Given the description of an element on the screen output the (x, y) to click on. 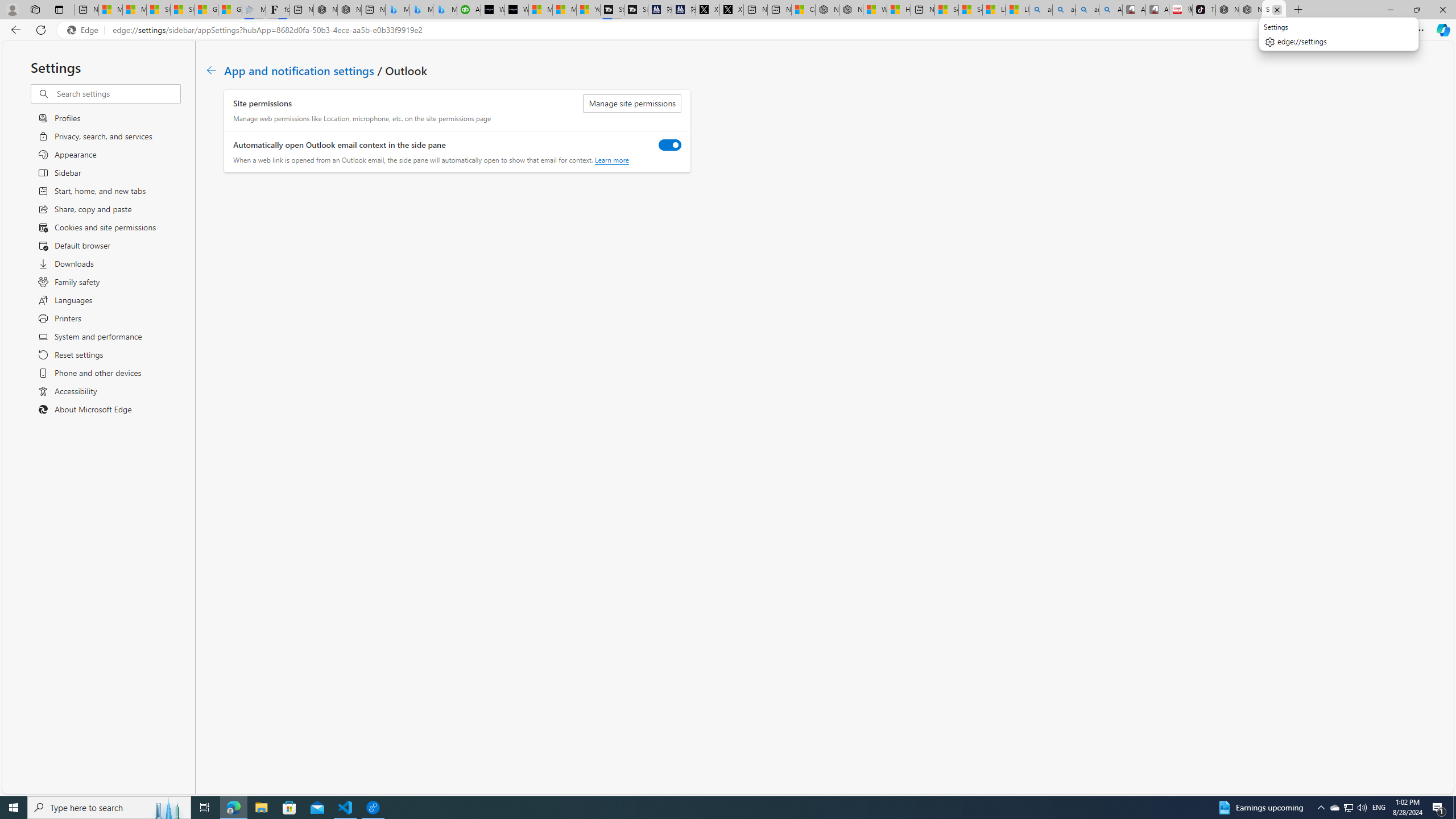
Edge (84, 29)
Streaming Coverage | T3 (611, 9)
amazon - Search Images (1087, 9)
Nordace - Best Sellers (1227, 9)
Gilma and Hector both pose tropical trouble for Hawaii (229, 9)
